Given the description of an element on the screen output the (x, y) to click on. 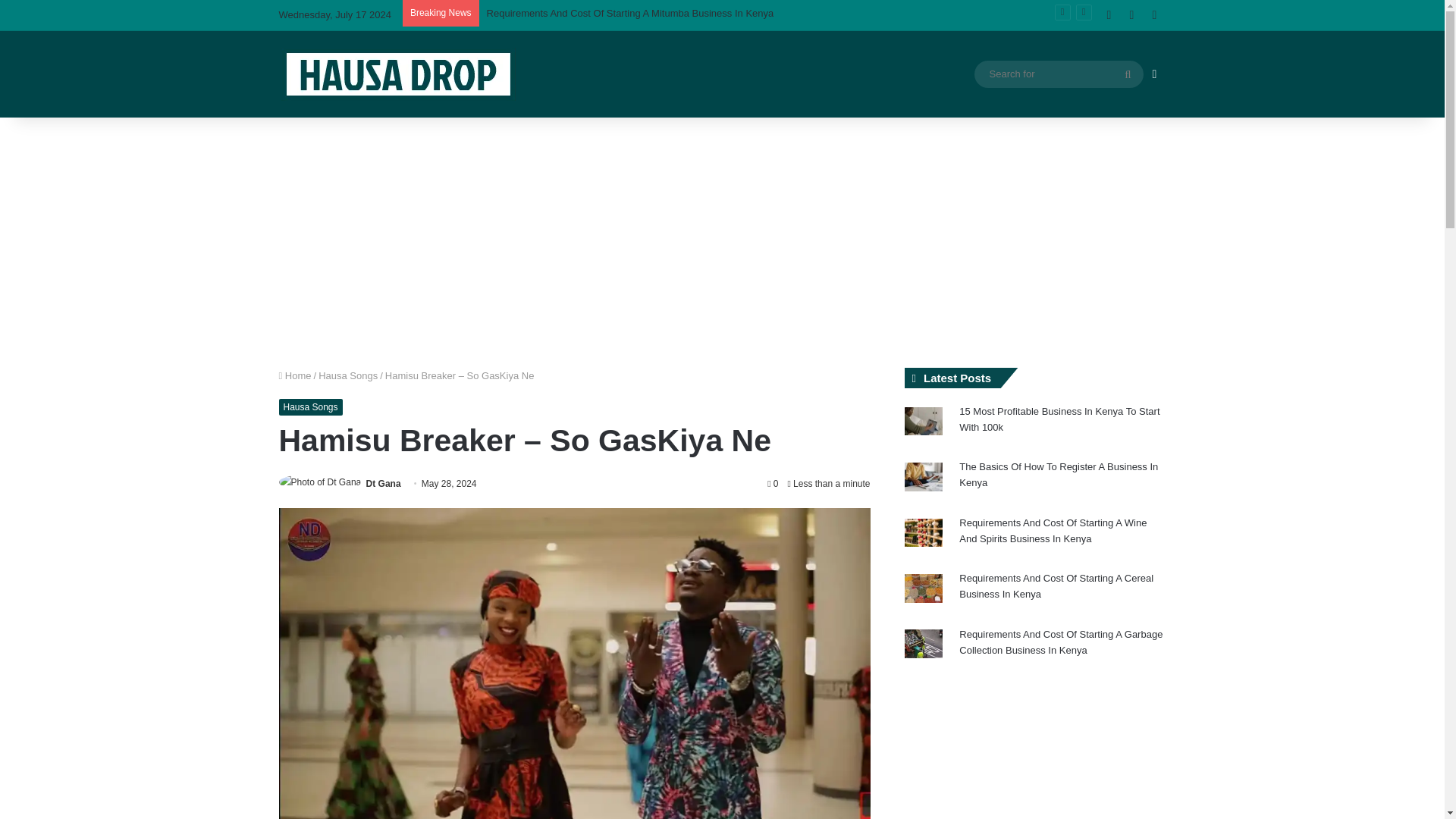
Hausa Songs (347, 375)
HausaDrop.com (397, 73)
Search for (1058, 73)
Home (295, 375)
Search for (1127, 73)
Hausa Songs (310, 406)
Dt Gana (383, 483)
Dt Gana (383, 483)
